Given the description of an element on the screen output the (x, y) to click on. 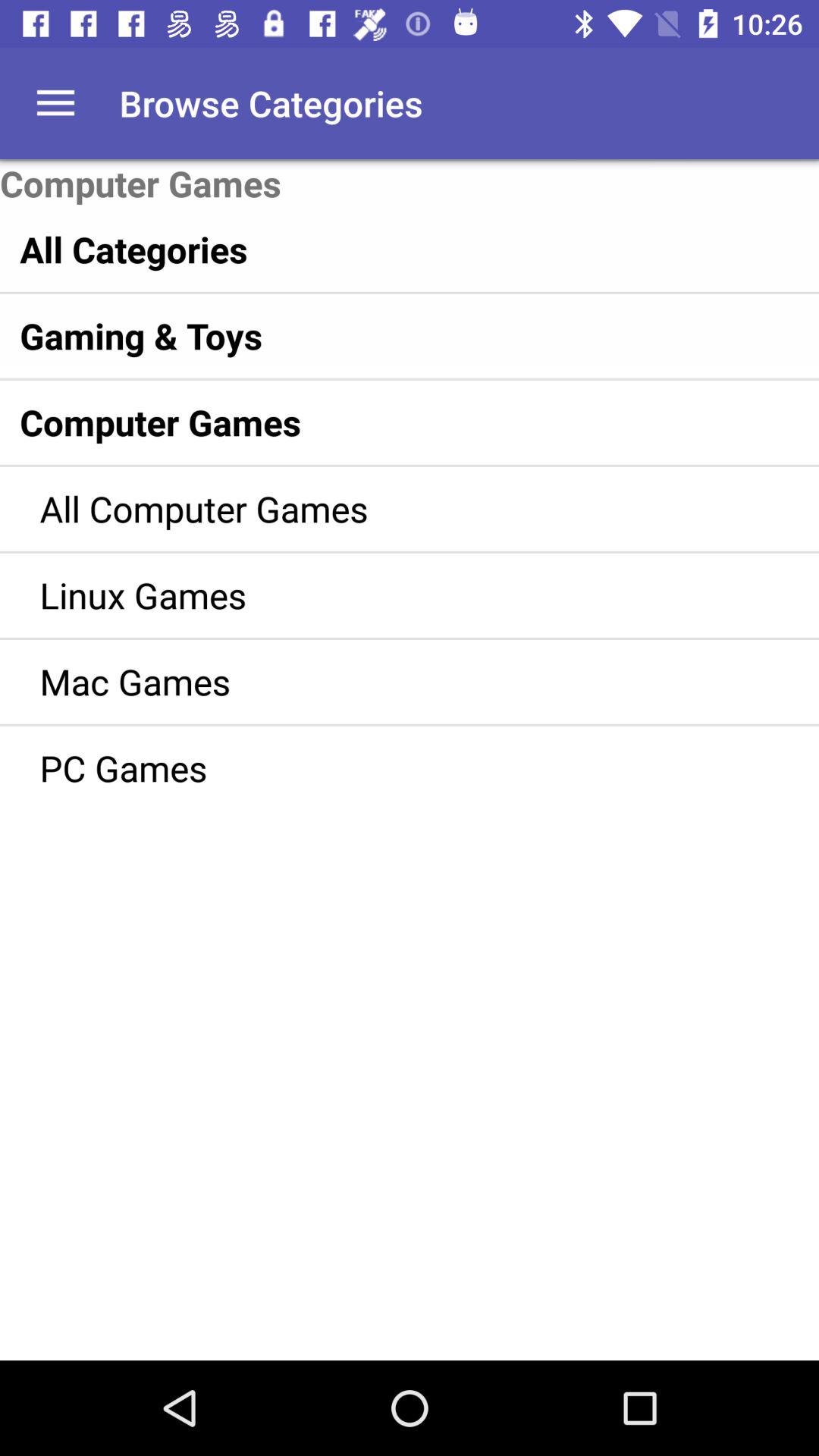
choose the icon above pc games item (387, 681)
